Given the description of an element on the screen output the (x, y) to click on. 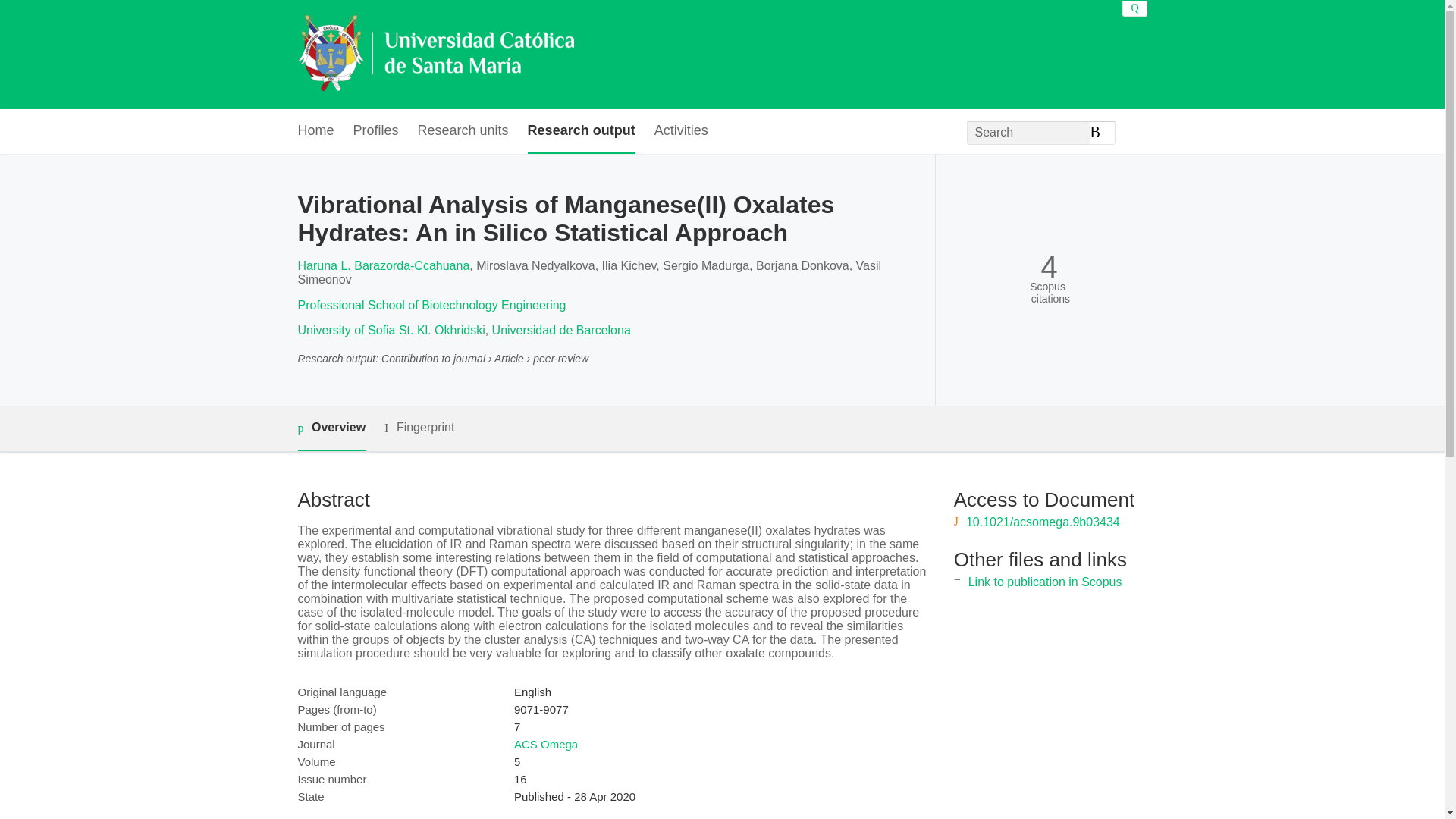
Research output (580, 130)
Haruna L. Barazorda-Ccahuana (382, 265)
Fingerprint (419, 427)
Activities (680, 130)
Research units (462, 130)
Professional School of Biotechnology Engineering (431, 305)
Universidad de Barcelona (561, 329)
University of Sofia St. Kl. Okhridski (390, 329)
ACS Omega (545, 744)
